Given the description of an element on the screen output the (x, y) to click on. 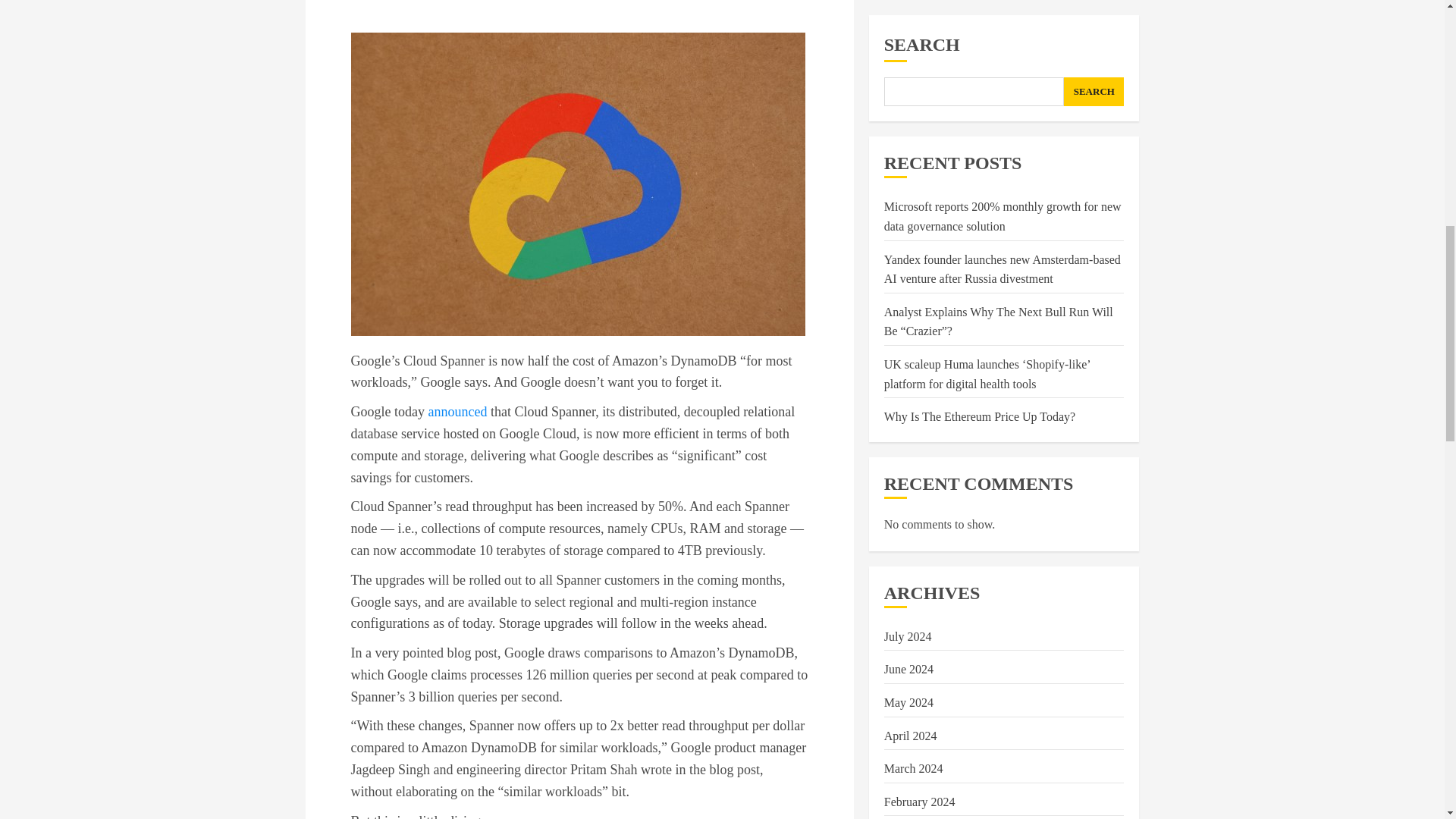
announced (457, 411)
